Given the description of an element on the screen output the (x, y) to click on. 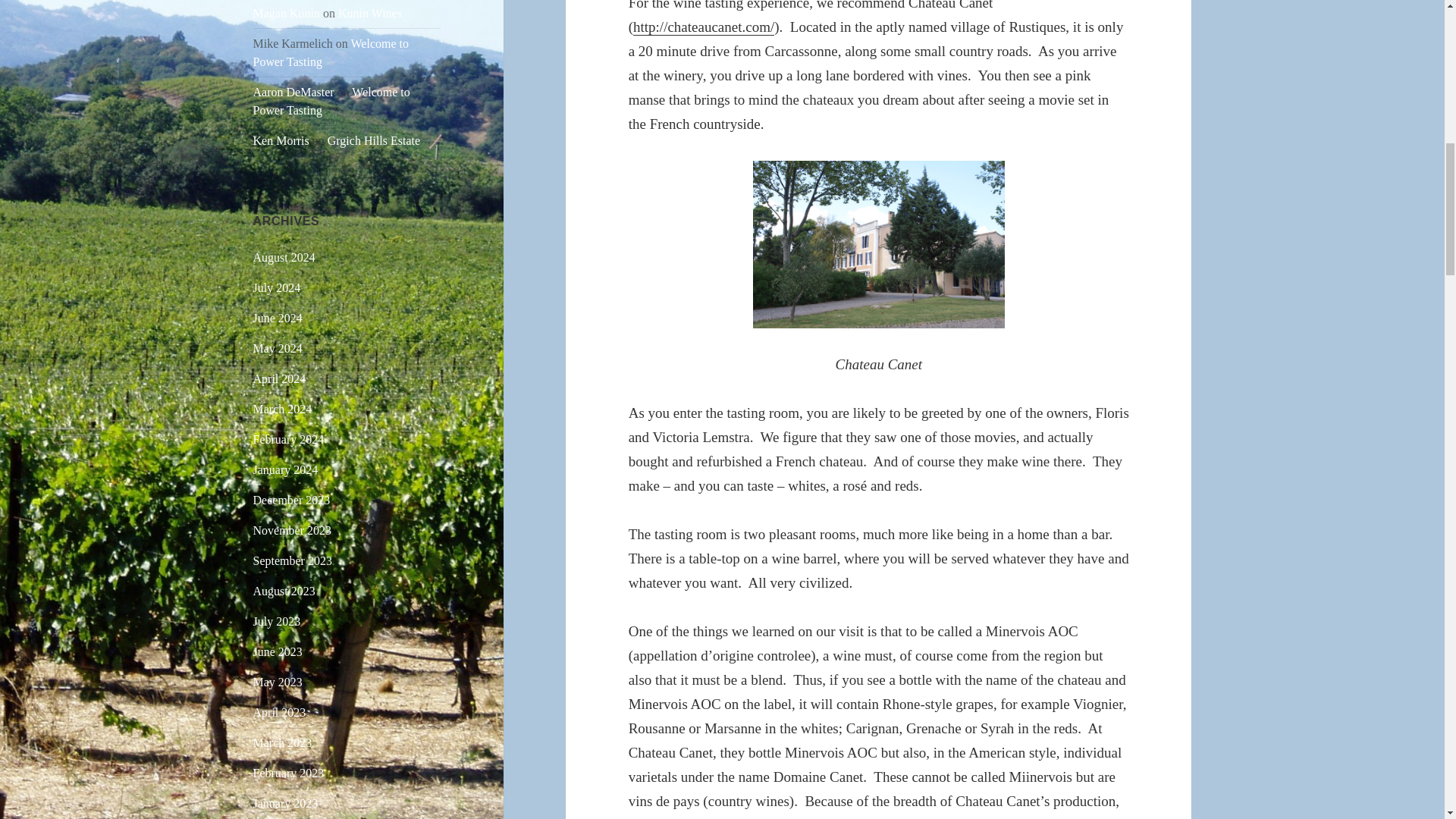
August 2024 (284, 256)
Welcome to Power Tasting (331, 101)
January 2023 (285, 802)
December 2023 (291, 499)
March 2024 (283, 408)
January 2024 (285, 469)
August 2023 (284, 590)
Ken Morris (280, 140)
May 2023 (277, 681)
Kunin Wines (369, 12)
